Given the description of an element on the screen output the (x, y) to click on. 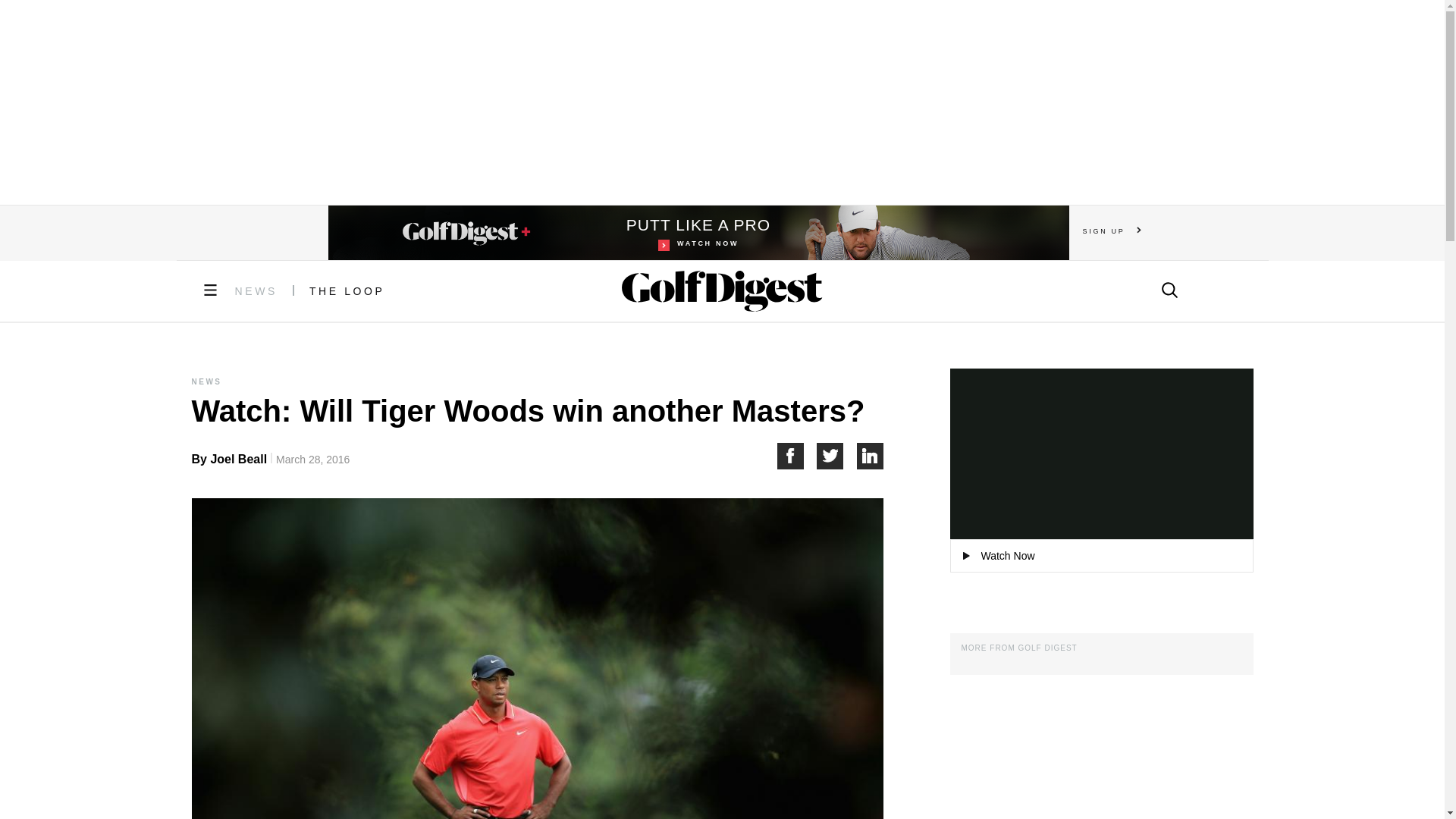
SIGN UP (1112, 230)
Share on Twitter (836, 456)
THE LOOP (697, 232)
Share on Facebook (346, 291)
Share on LinkedIn (796, 456)
NEWS (870, 456)
